Given the description of an element on the screen output the (x, y) to click on. 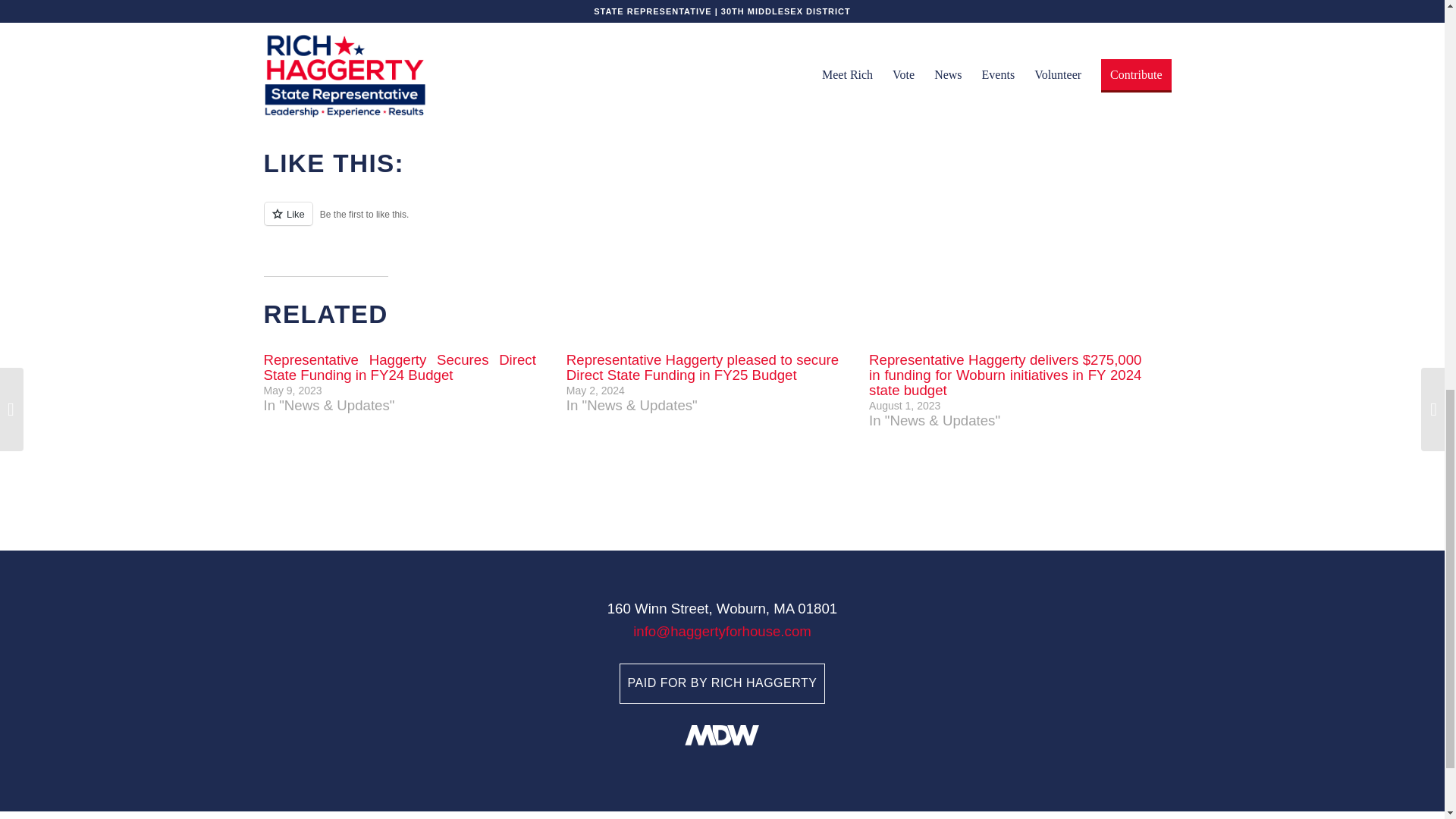
Like or Reblog (721, 222)
Click to share on Twitter (275, 85)
Click to share on Facebook (306, 85)
